Given the description of an element on the screen output the (x, y) to click on. 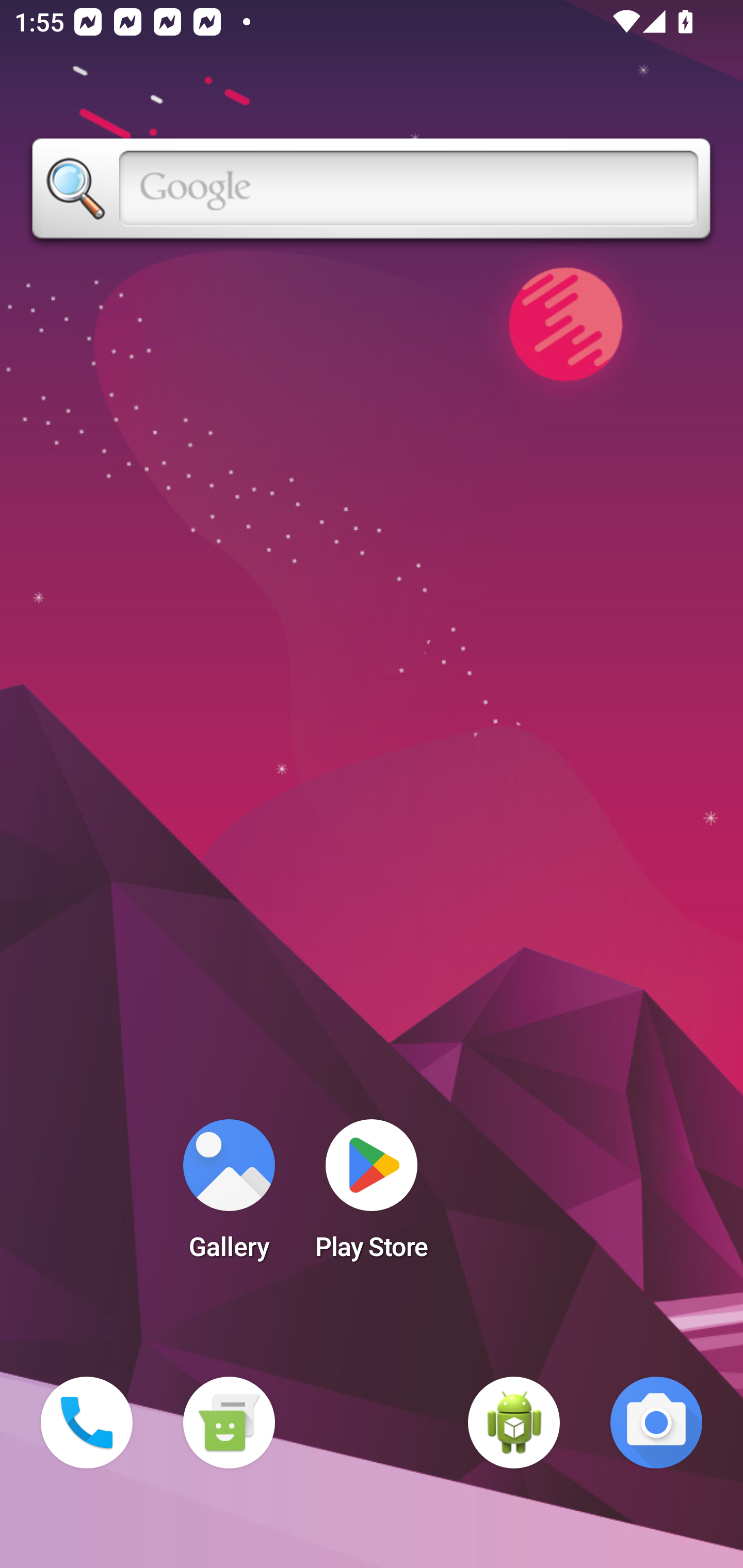
Gallery (228, 1195)
Play Store (371, 1195)
Phone (86, 1422)
Messaging (228, 1422)
WebView Browser Tester (513, 1422)
Camera (656, 1422)
